Given the description of an element on the screen output the (x, y) to click on. 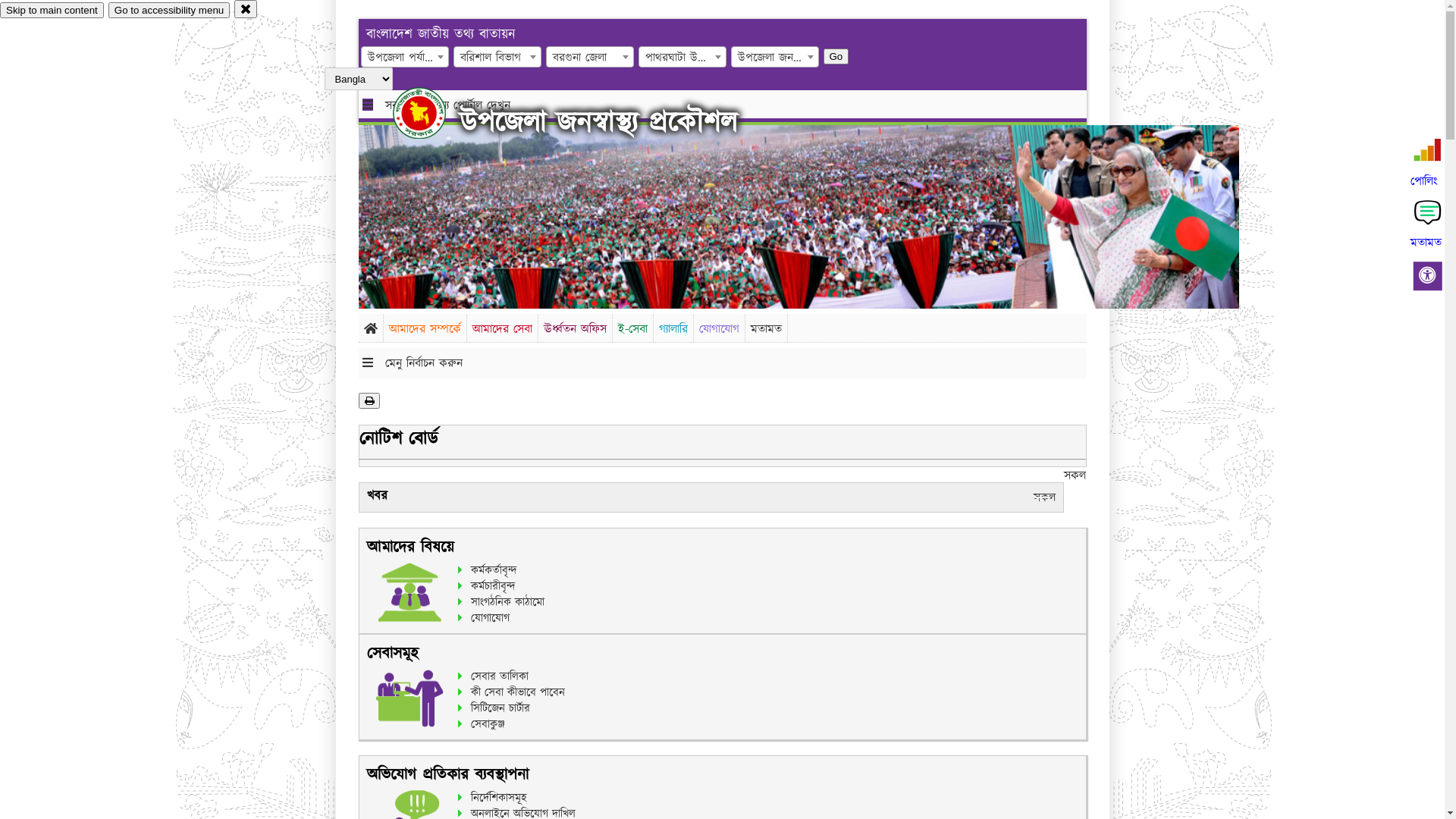
Go to accessibility menu Element type: text (168, 10)
close Element type: hover (245, 9)
Skip to main content Element type: text (51, 10)
Go Element type: text (836, 56)

                
             Element type: hover (431, 112)
